Given the description of an element on the screen output the (x, y) to click on. 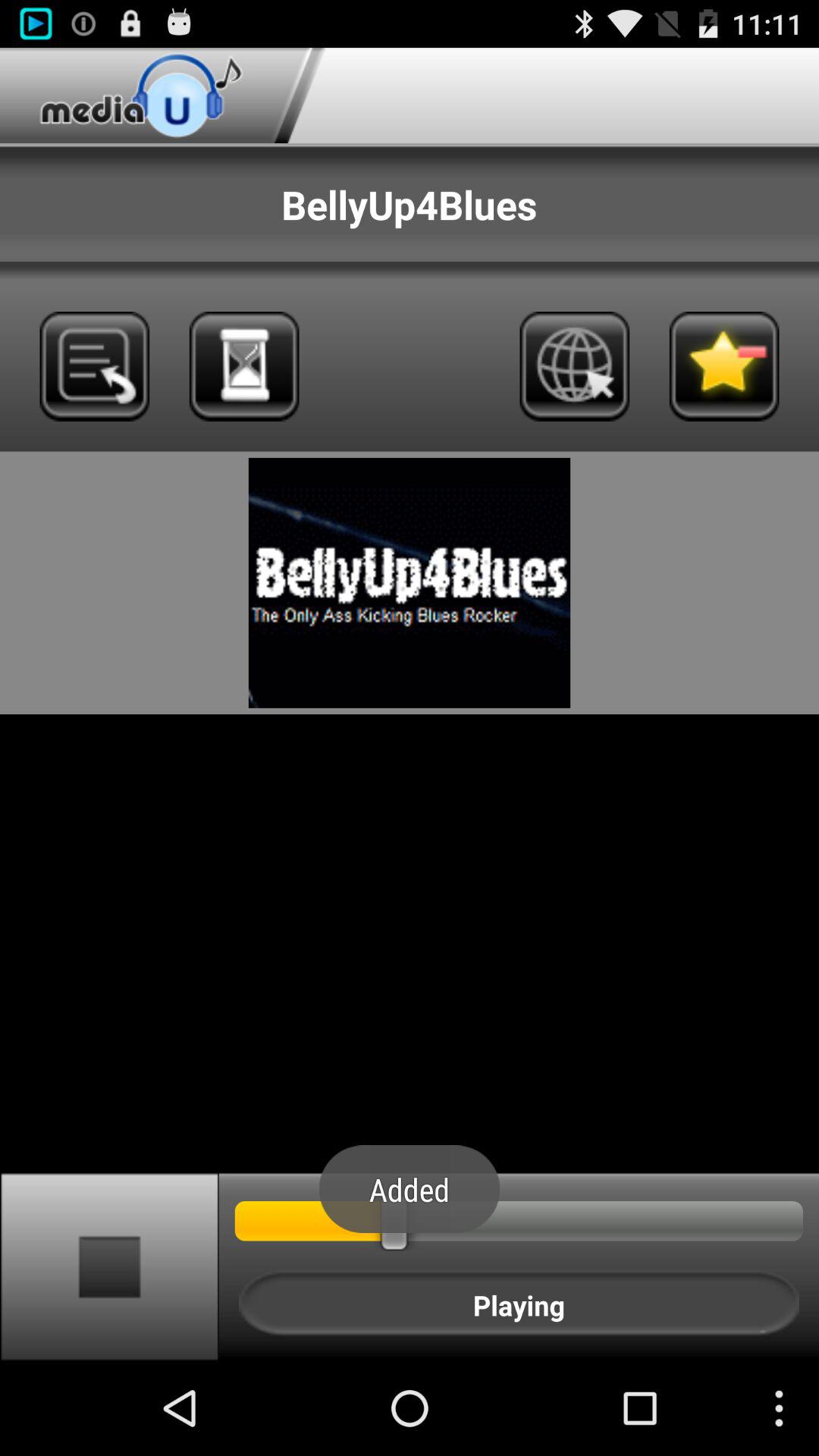
stop option (109, 1266)
